Given the description of an element on the screen output the (x, y) to click on. 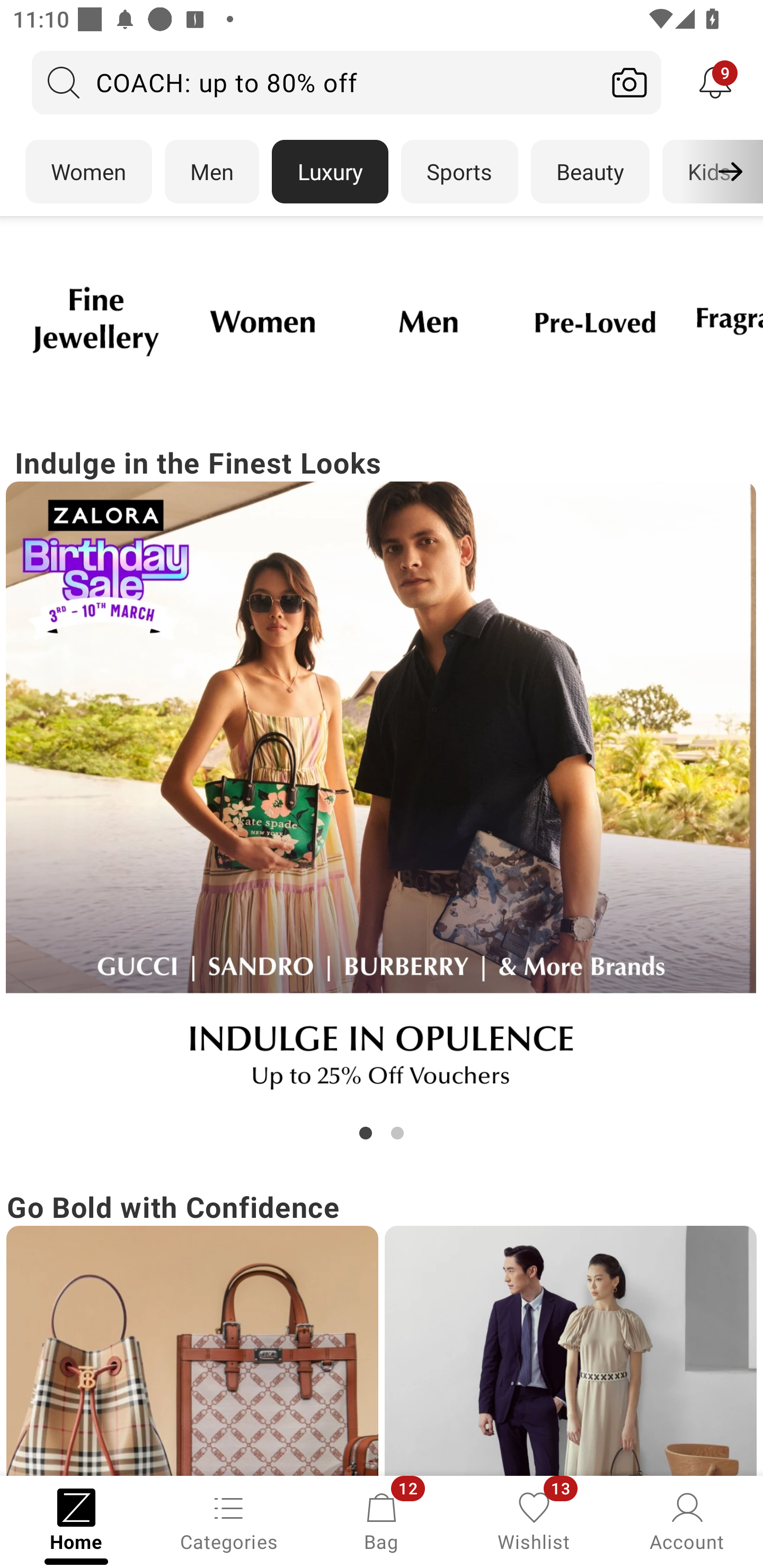
COACH: up to 80% off (314, 82)
Women (88, 171)
Men (211, 171)
Luxury (329, 171)
Sports (459, 171)
Beauty (590, 171)
Kids (709, 171)
Campaign banner (95, 321)
Campaign banner (261, 321)
Campaign banner (428, 321)
Campaign banner (594, 321)
 Indulge in the Finest Looks Campaign banner (381, 792)
Campaign banner (381, 797)
Campaign banner (192, 1350)
Campaign banner (570, 1350)
Categories (228, 1519)
Bag, 12 new notifications Bag (381, 1519)
Wishlist, 13 new notifications Wishlist (533, 1519)
Account (686, 1519)
